Given the description of an element on the screen output the (x, y) to click on. 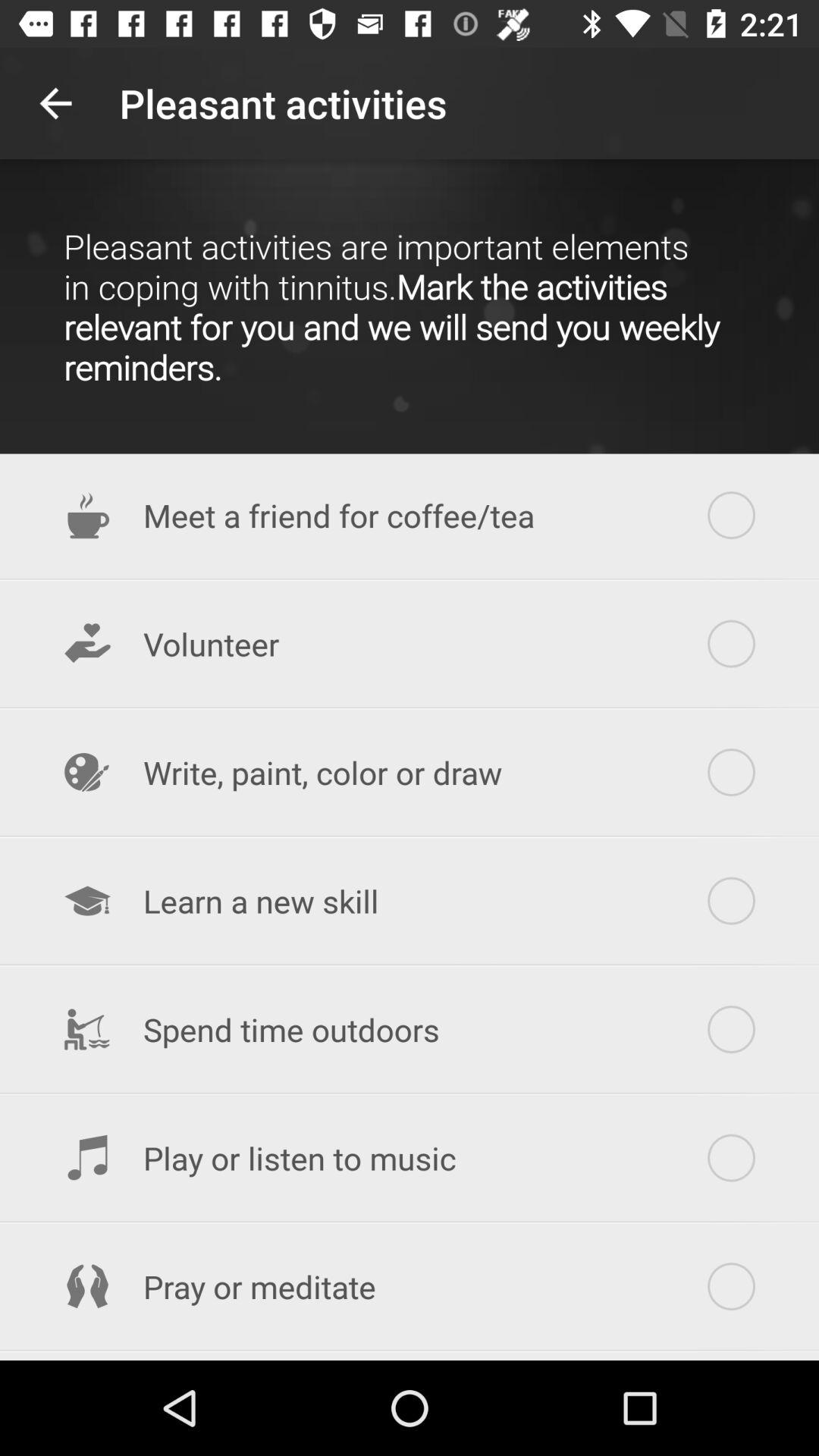
launch the item below learn a new item (409, 1029)
